Given the description of an element on the screen output the (x, y) to click on. 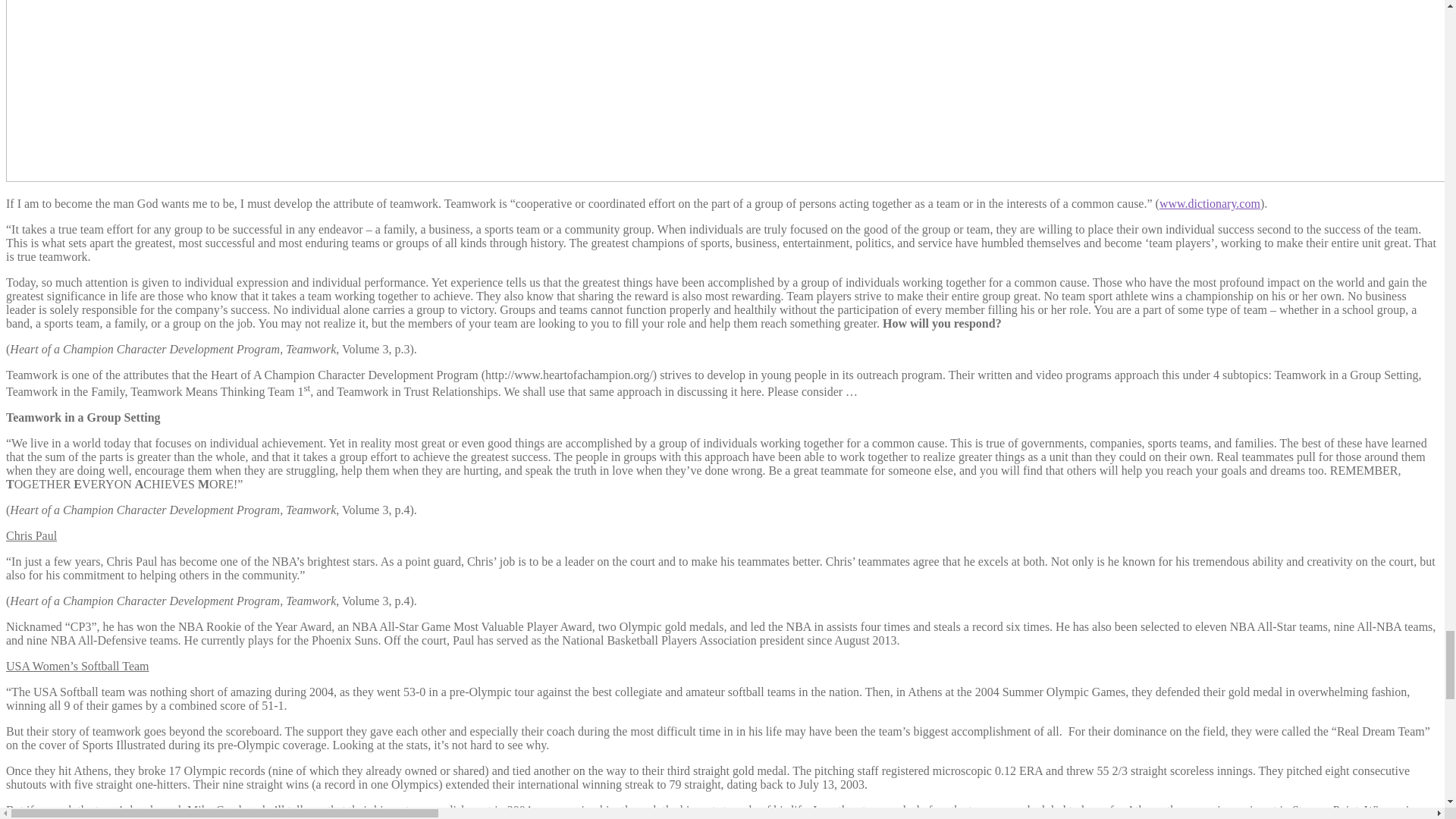
www.dictionary.com (1209, 203)
